Given the description of an element on the screen output the (x, y) to click on. 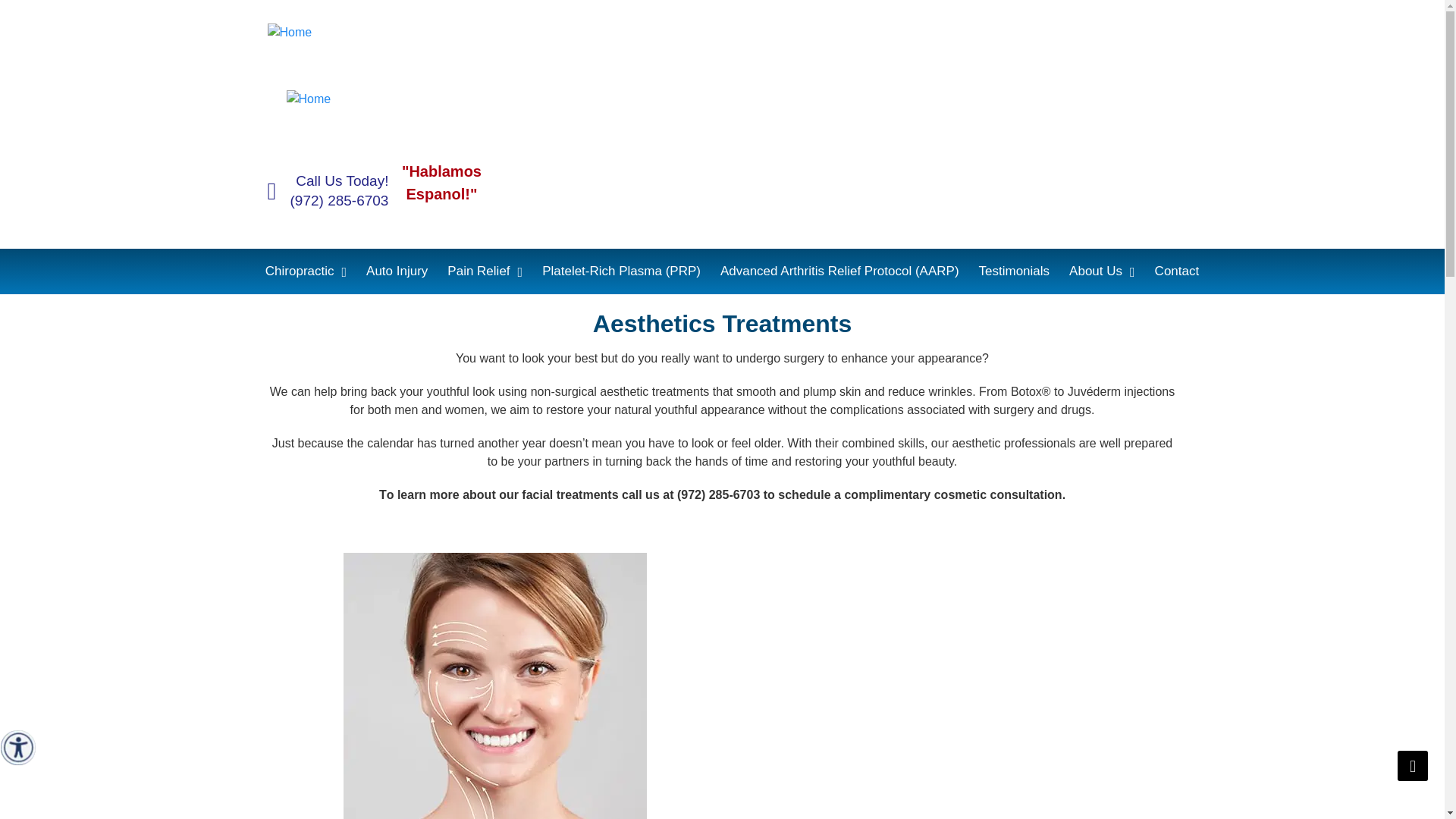
About Us (1101, 271)
Testimonials (1014, 271)
Botox (494, 685)
Pain Relief (485, 271)
Back to the Top (1412, 766)
Home (380, 32)
Chiropractic (306, 271)
Accessibility Helper sidebar (18, 747)
Auto Injury (397, 271)
Home (381, 98)
